Given the description of an element on the screen output the (x, y) to click on. 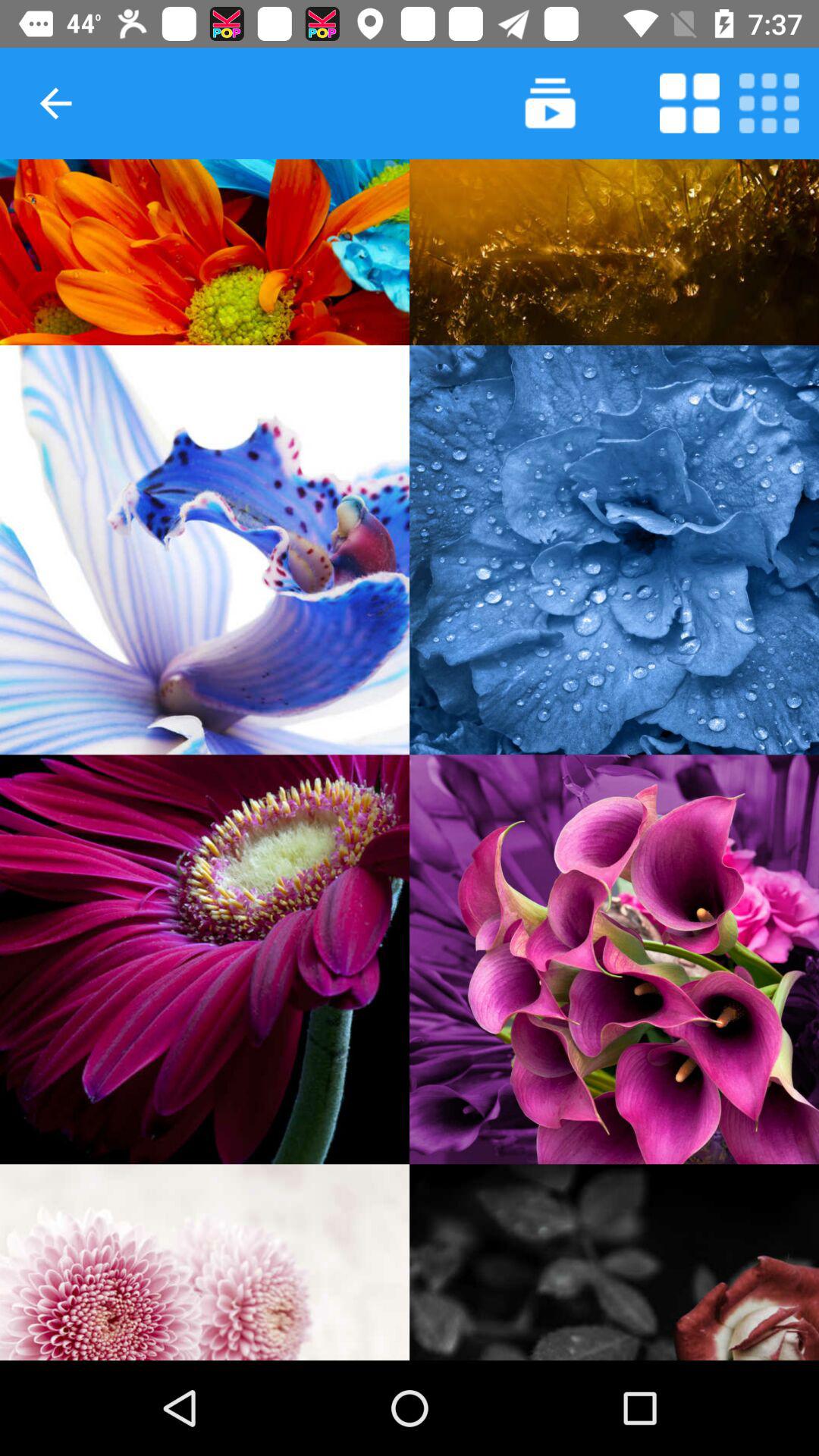
choose this picture (614, 549)
